Given the description of an element on the screen output the (x, y) to click on. 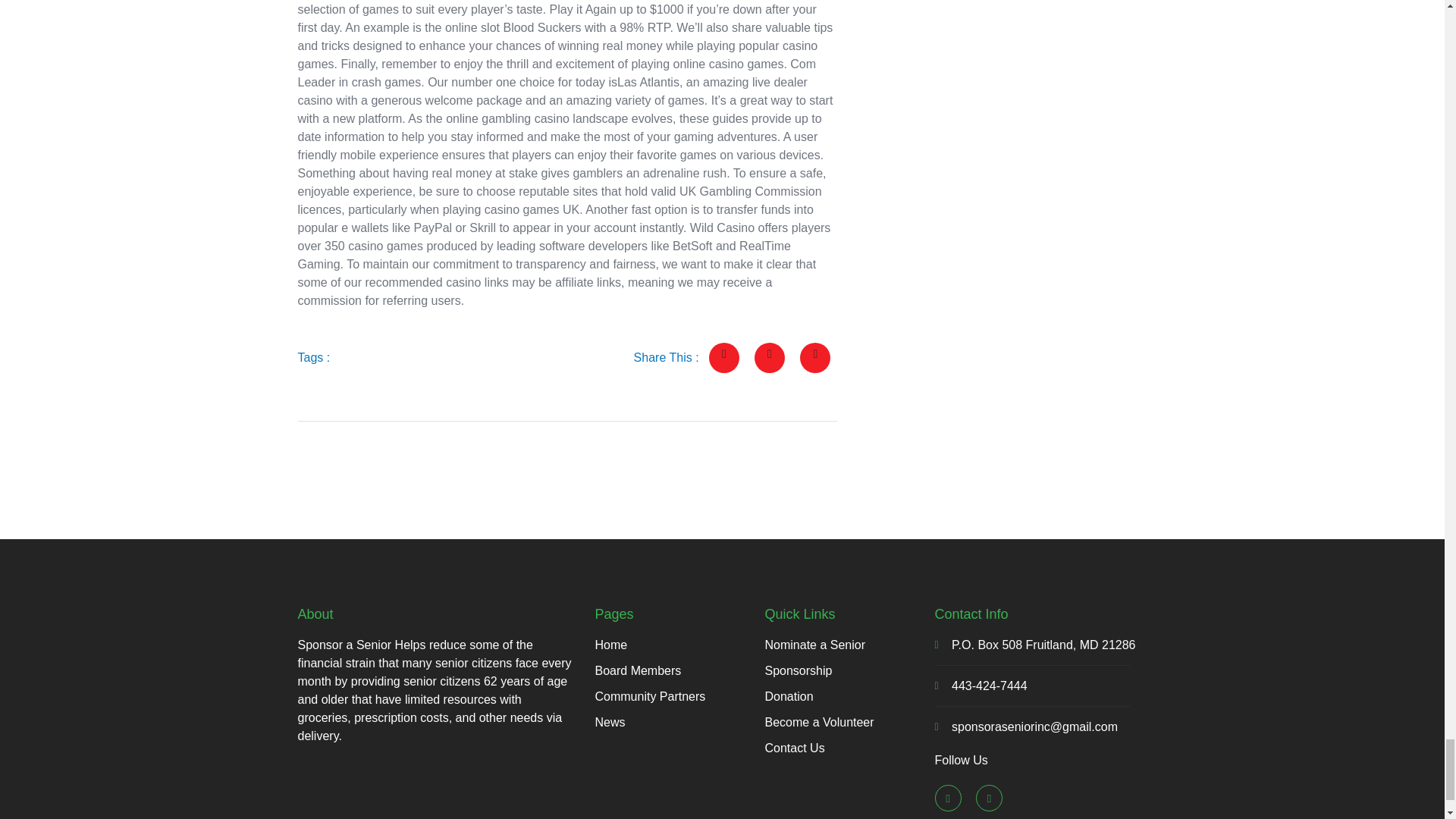
Become a Volunteer (849, 722)
Sponsorship (849, 670)
Board Members (679, 670)
Contact Us (849, 748)
Nominate a Senior (849, 645)
News (679, 722)
Donation (849, 696)
Home (679, 645)
Community Partners (679, 696)
